Given the description of an element on the screen output the (x, y) to click on. 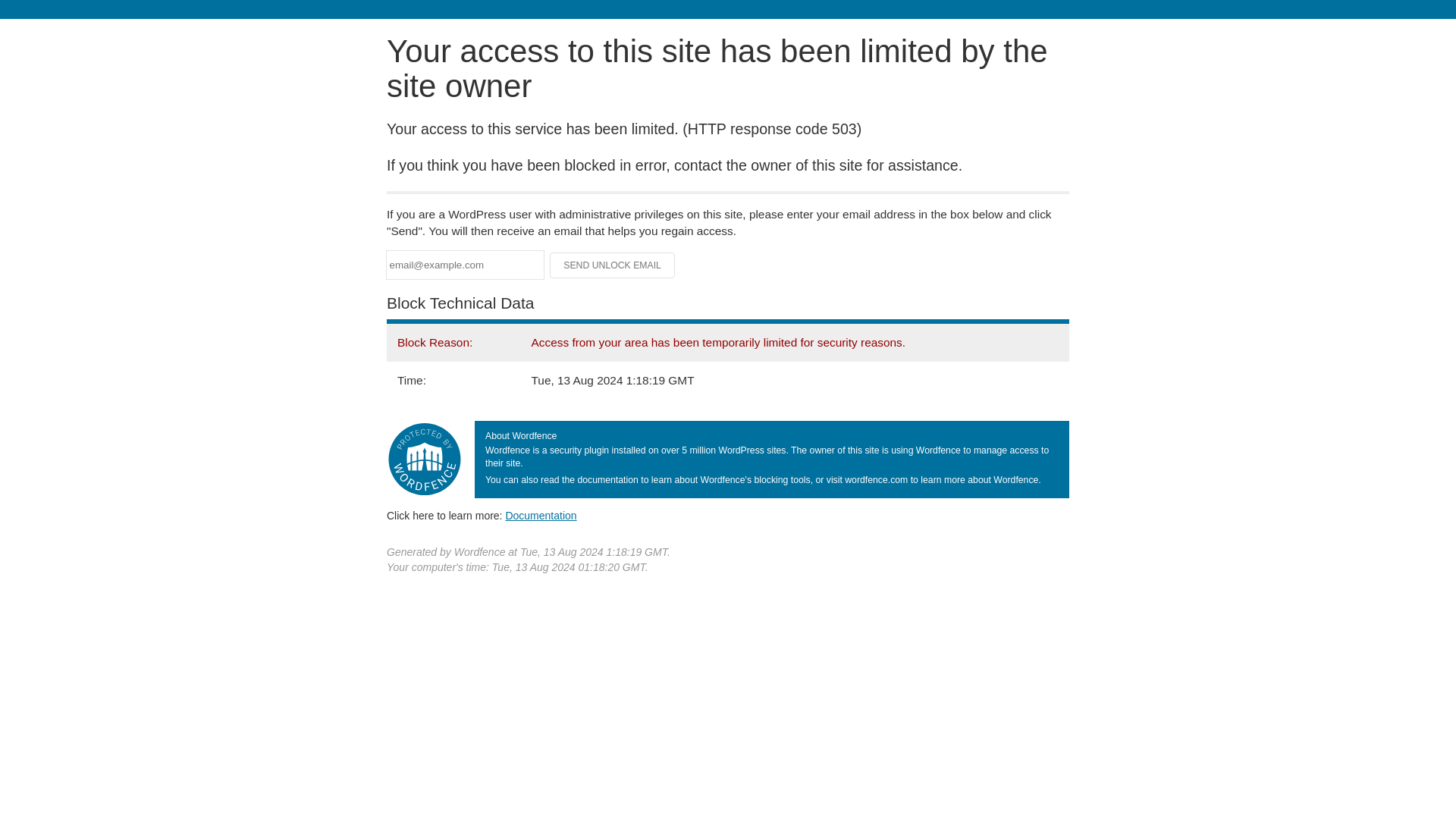
Documentation (540, 515)
Send Unlock Email (612, 265)
Send Unlock Email (612, 265)
